Given the description of an element on the screen output the (x, y) to click on. 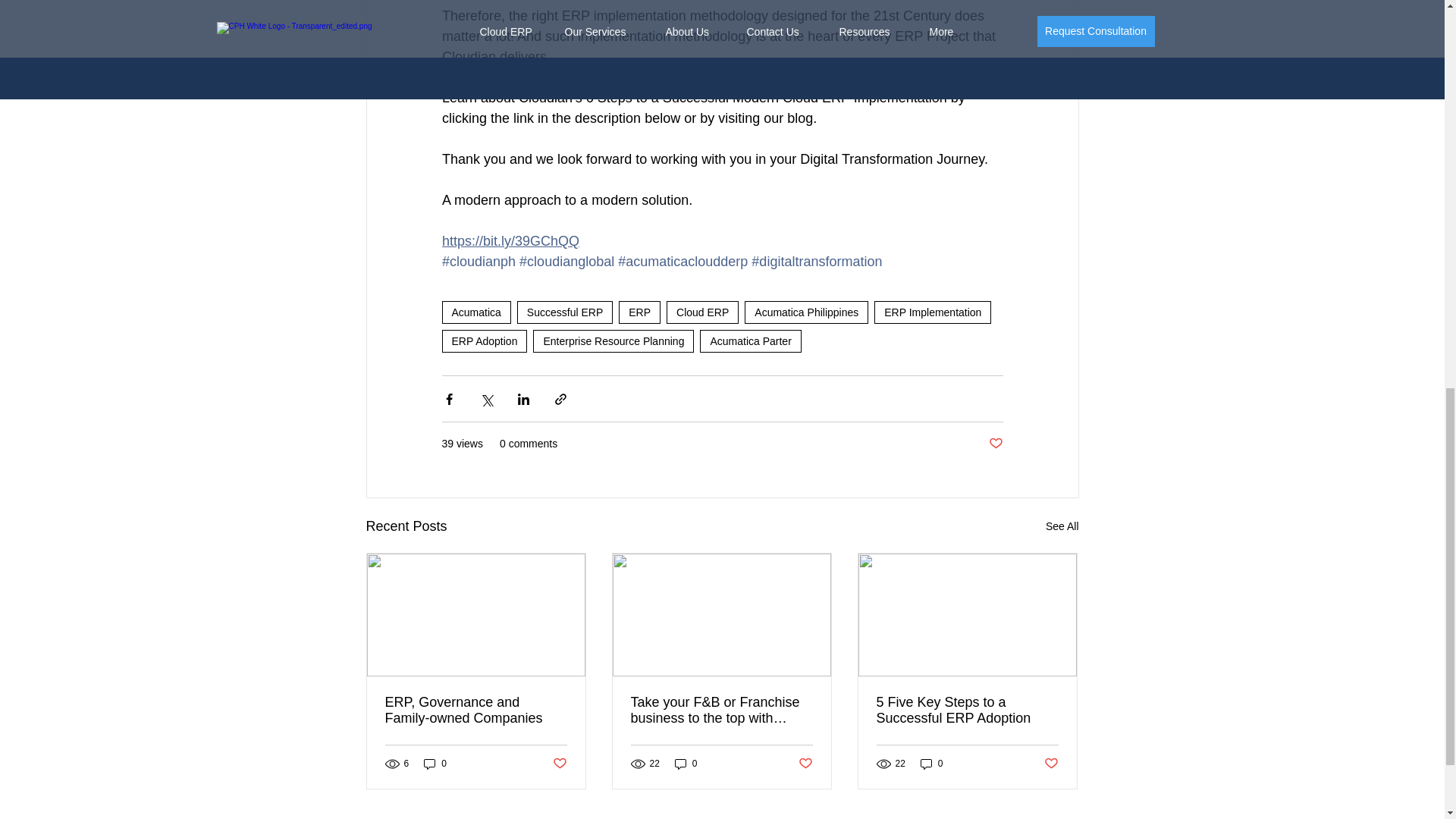
ERP Implementation (933, 312)
ERP (639, 312)
Cloud ERP (702, 312)
ERP Adoption (484, 341)
Acumatica Philippines (805, 312)
Acumatica Parter (750, 341)
Enterprise Resource Planning (613, 341)
Successful ERP (564, 312)
Acumatica (476, 312)
